Given the description of an element on the screen output the (x, y) to click on. 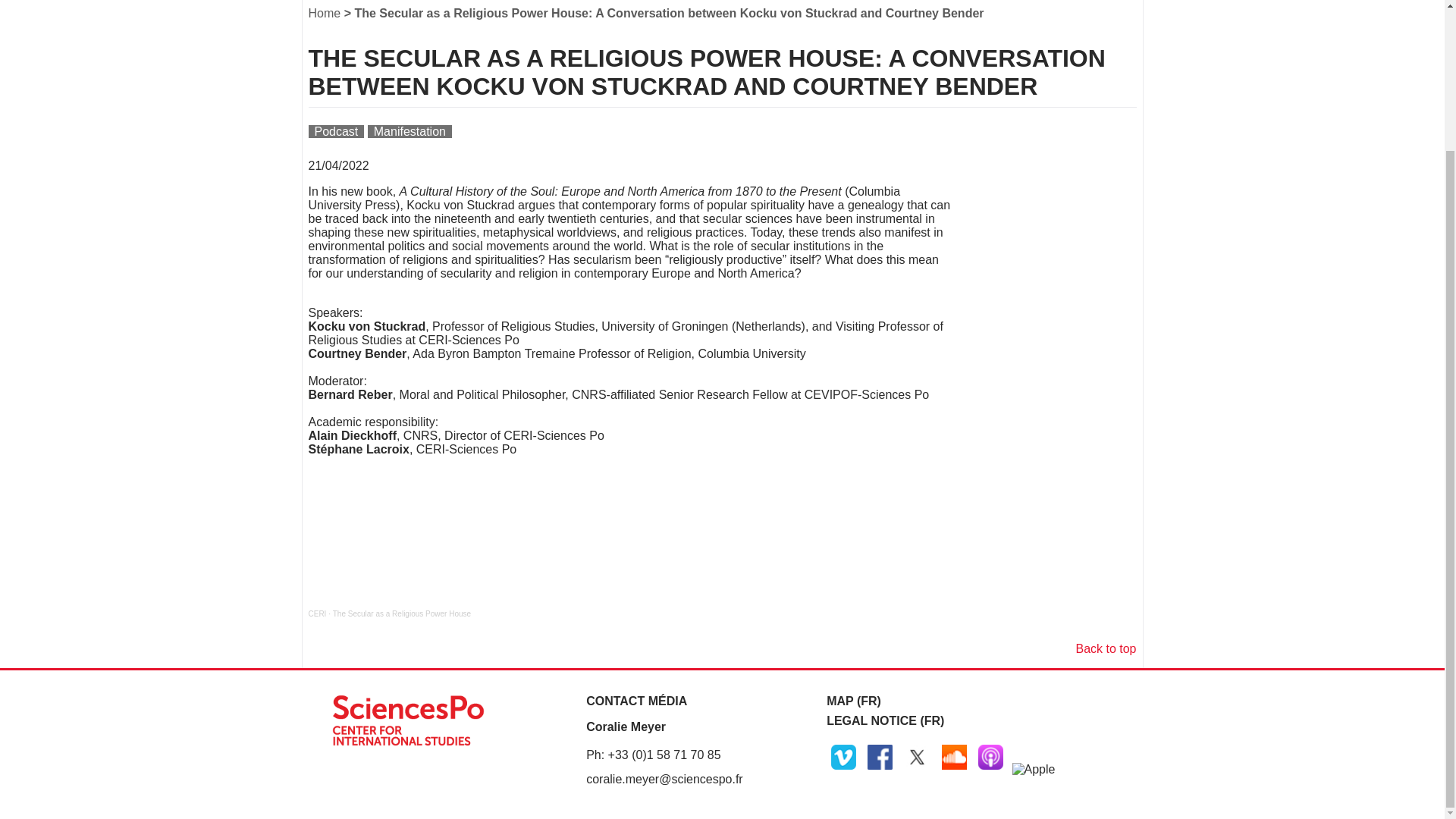
Manifestation (409, 131)
CERI - open in new window (316, 613)
Podcast (335, 131)
